Given the description of an element on the screen output the (x, y) to click on. 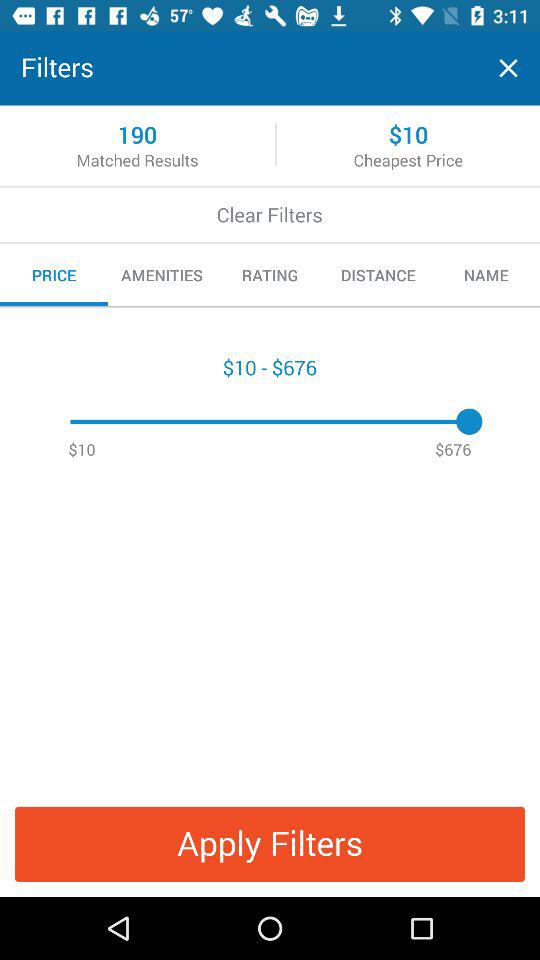
select icon next to amenities item (270, 275)
